Given the description of an element on the screen output the (x, y) to click on. 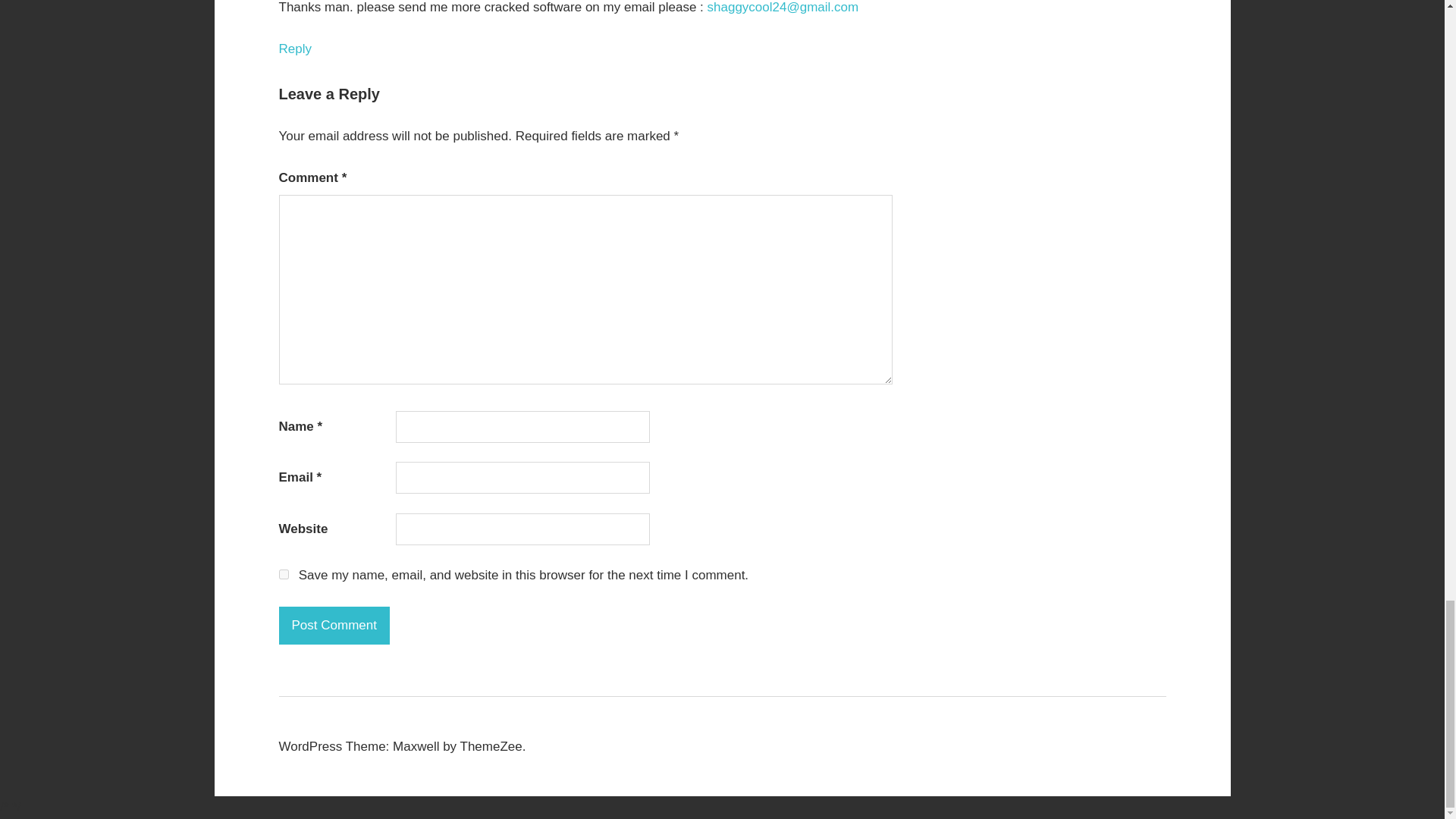
Post Comment (334, 624)
Reply (295, 48)
yes (283, 574)
